Given the description of an element on the screen output the (x, y) to click on. 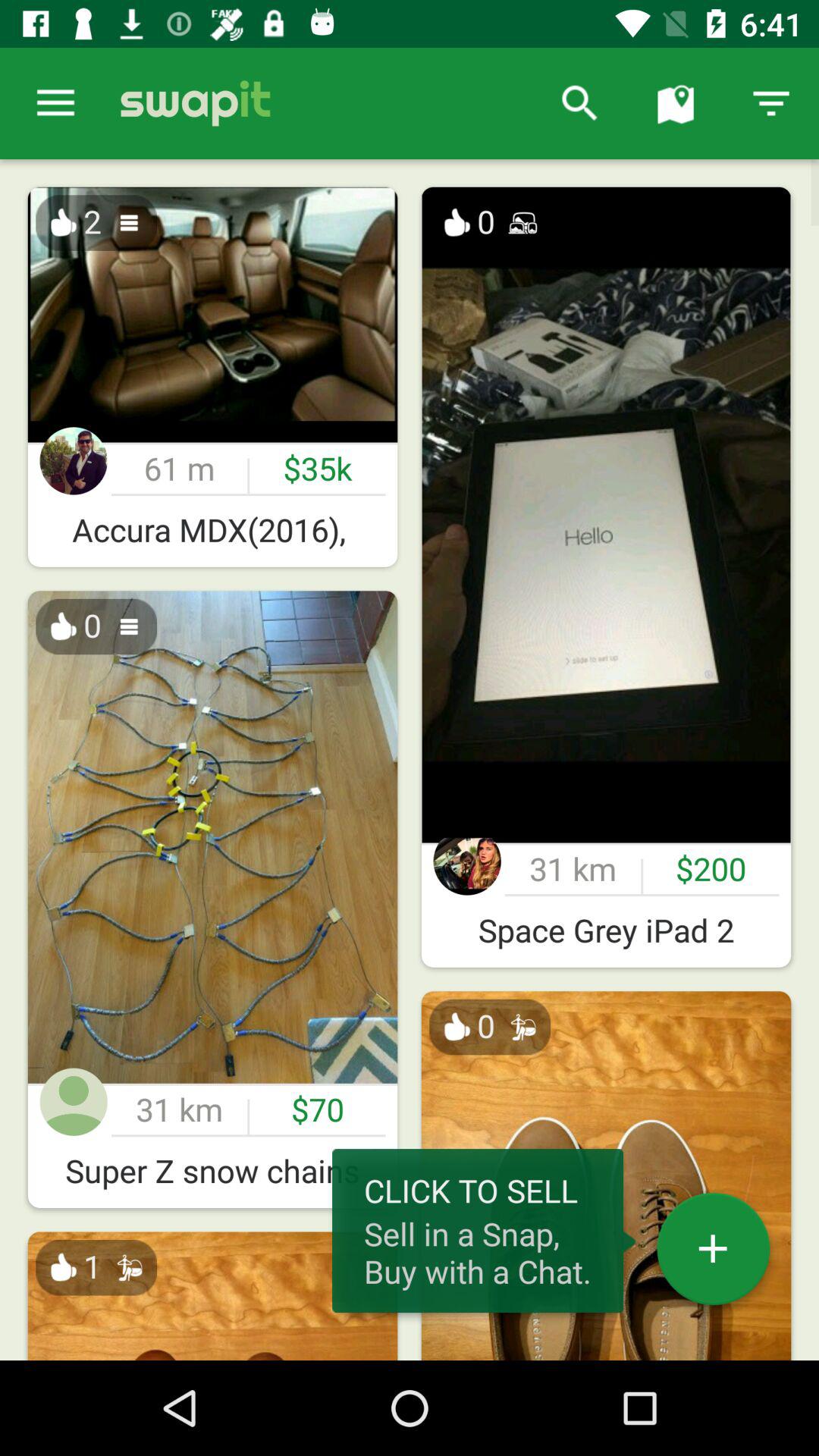
turn off the icon to the left of the swap icon (55, 103)
